Given the description of an element on the screen output the (x, y) to click on. 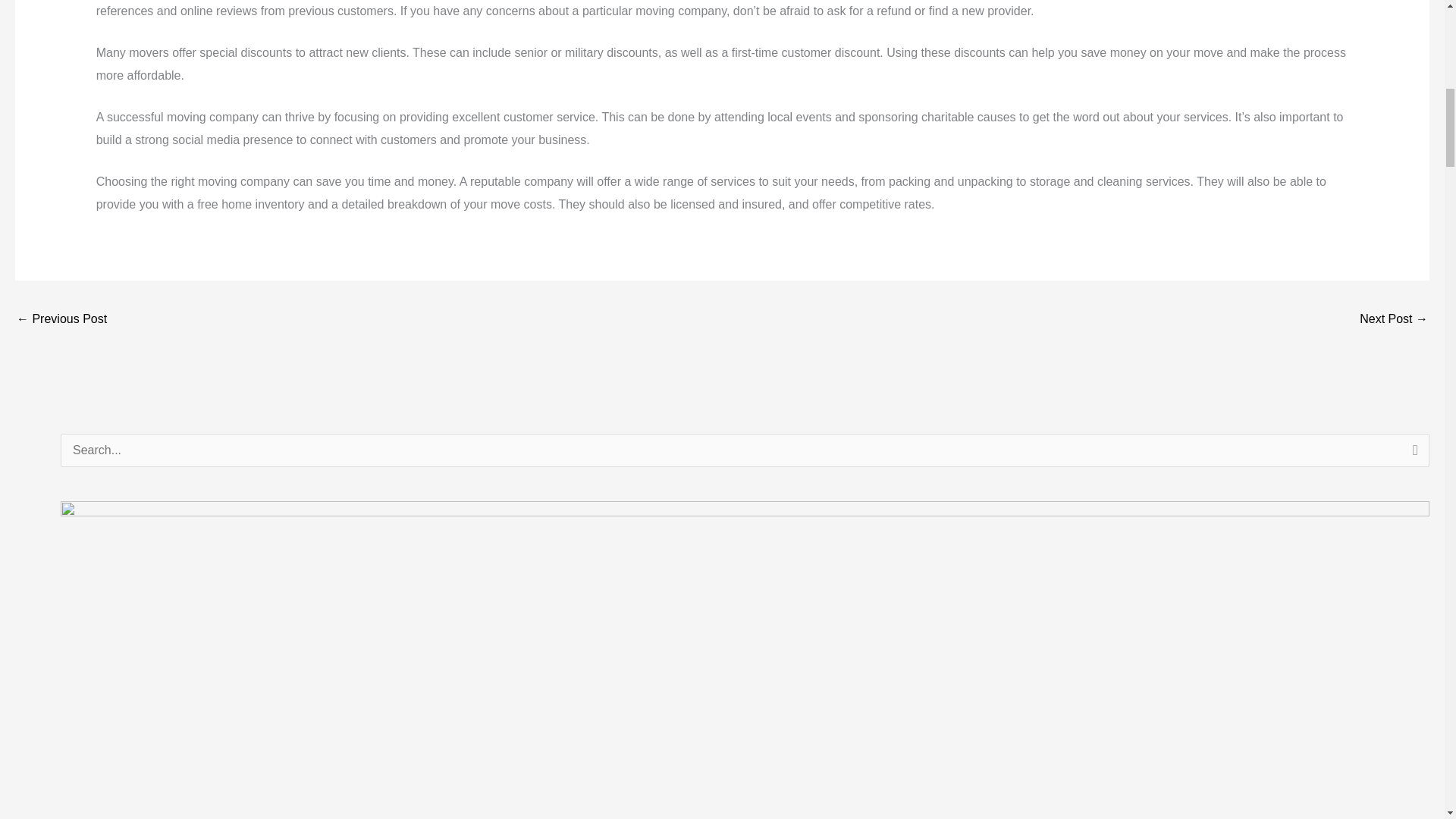
What is the easiest freelance job? (61, 320)
The Advantages of Computers (1393, 320)
